Given the description of an element on the screen output the (x, y) to click on. 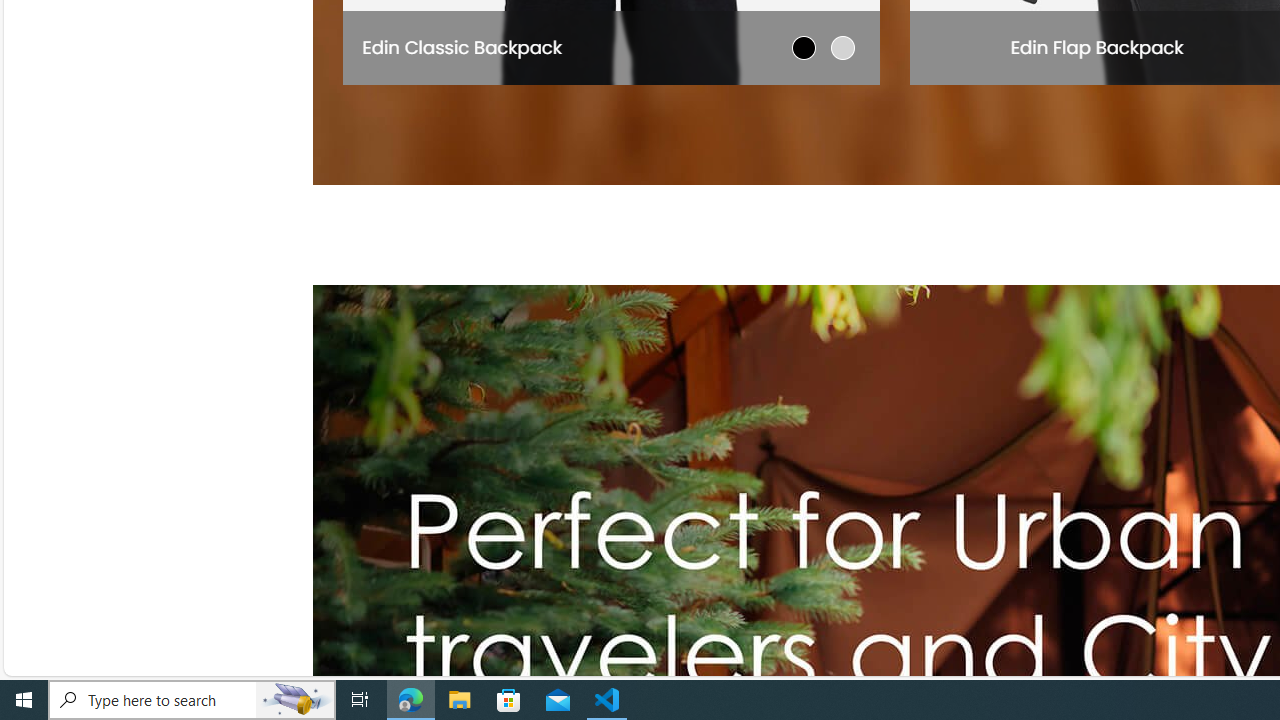
Microsoft Edge - 1 running window (411, 699)
Start (24, 699)
Black (804, 47)
Search highlights icon opens search home window (295, 699)
Edin Classic Backpack (462, 46)
Microsoft Store (509, 699)
Task View (359, 699)
Light Gray (842, 47)
File Explorer (460, 699)
Type here to search (191, 699)
Visual Studio Code - 1 running window (607, 699)
